Given the description of an element on the screen output the (x, y) to click on. 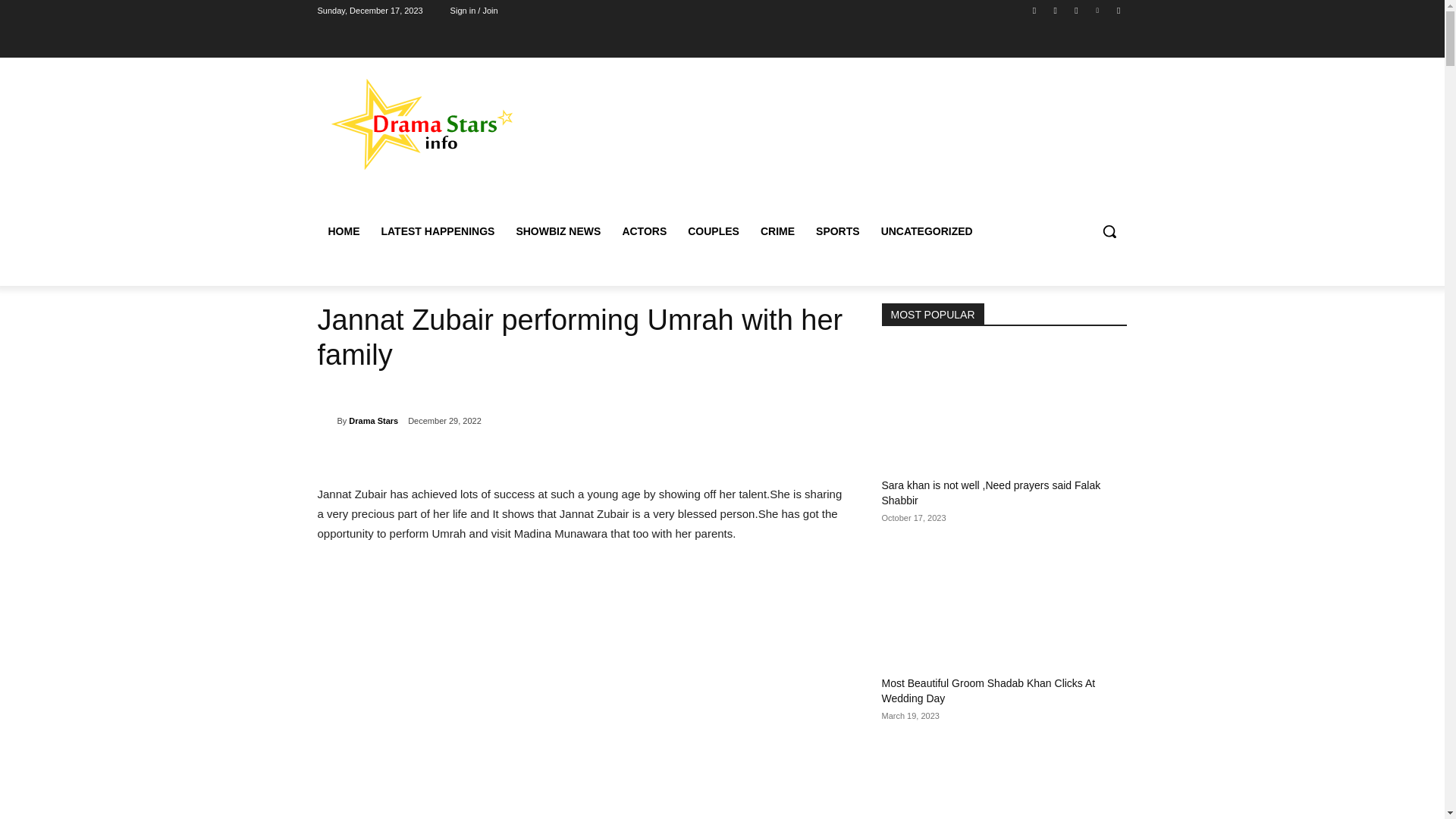
ACTORS (644, 230)
Youtube (1117, 9)
UNCATEGORIZED (927, 230)
CRIME (777, 230)
Twitter (1075, 9)
SPORTS (837, 230)
Vimeo (1097, 9)
LATEST HAPPENINGS (437, 230)
Drama Stars (326, 420)
HOME (343, 230)
Drama Stars (373, 420)
SHOWBIZ NEWS (558, 230)
Facebook (1034, 9)
Instagram (1055, 9)
COUPLES (713, 230)
